Given the description of an element on the screen output the (x, y) to click on. 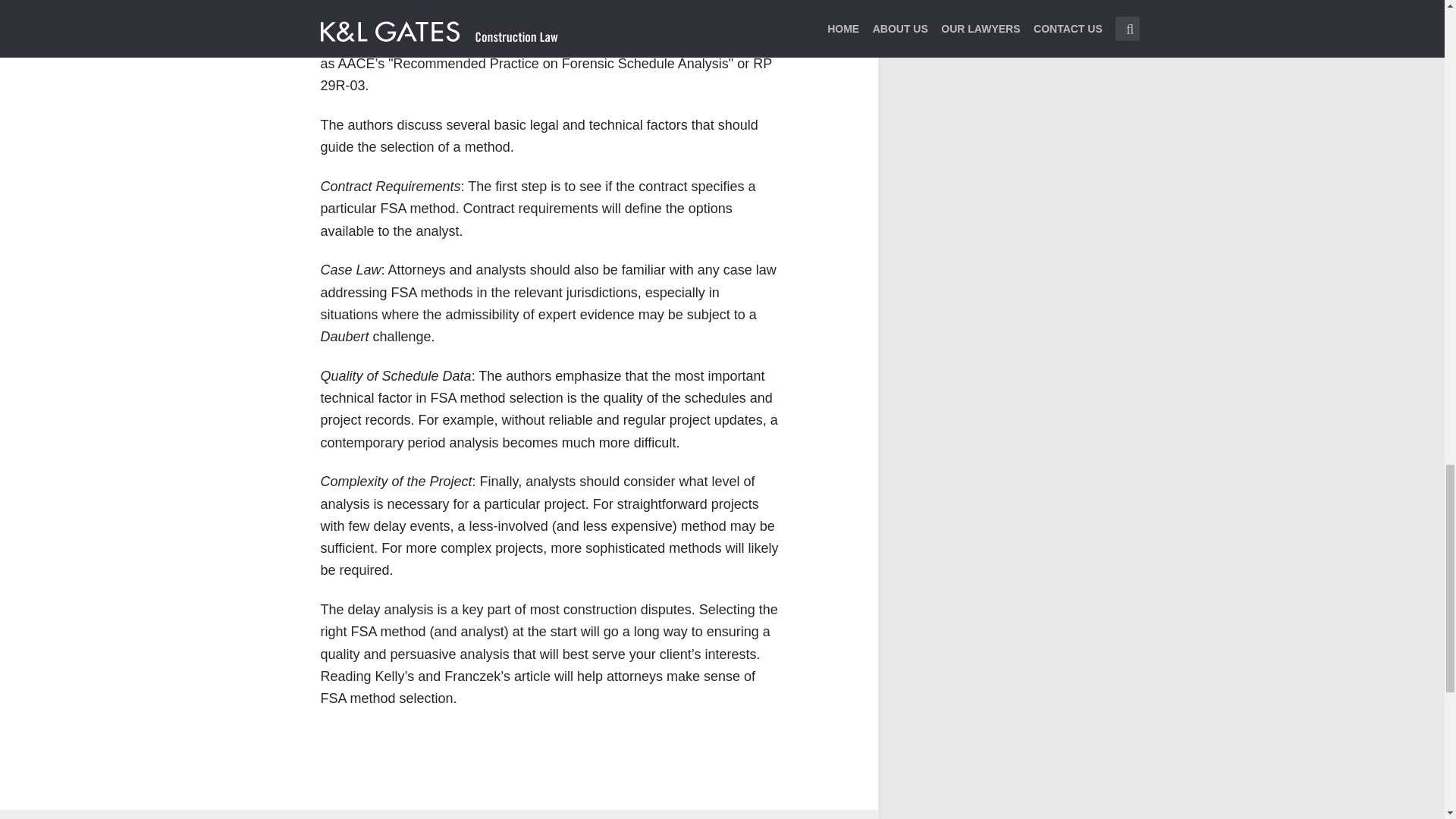
AAA Issues Optional Appellate Arbitration Rules (722, 814)
